Given the description of an element on the screen output the (x, y) to click on. 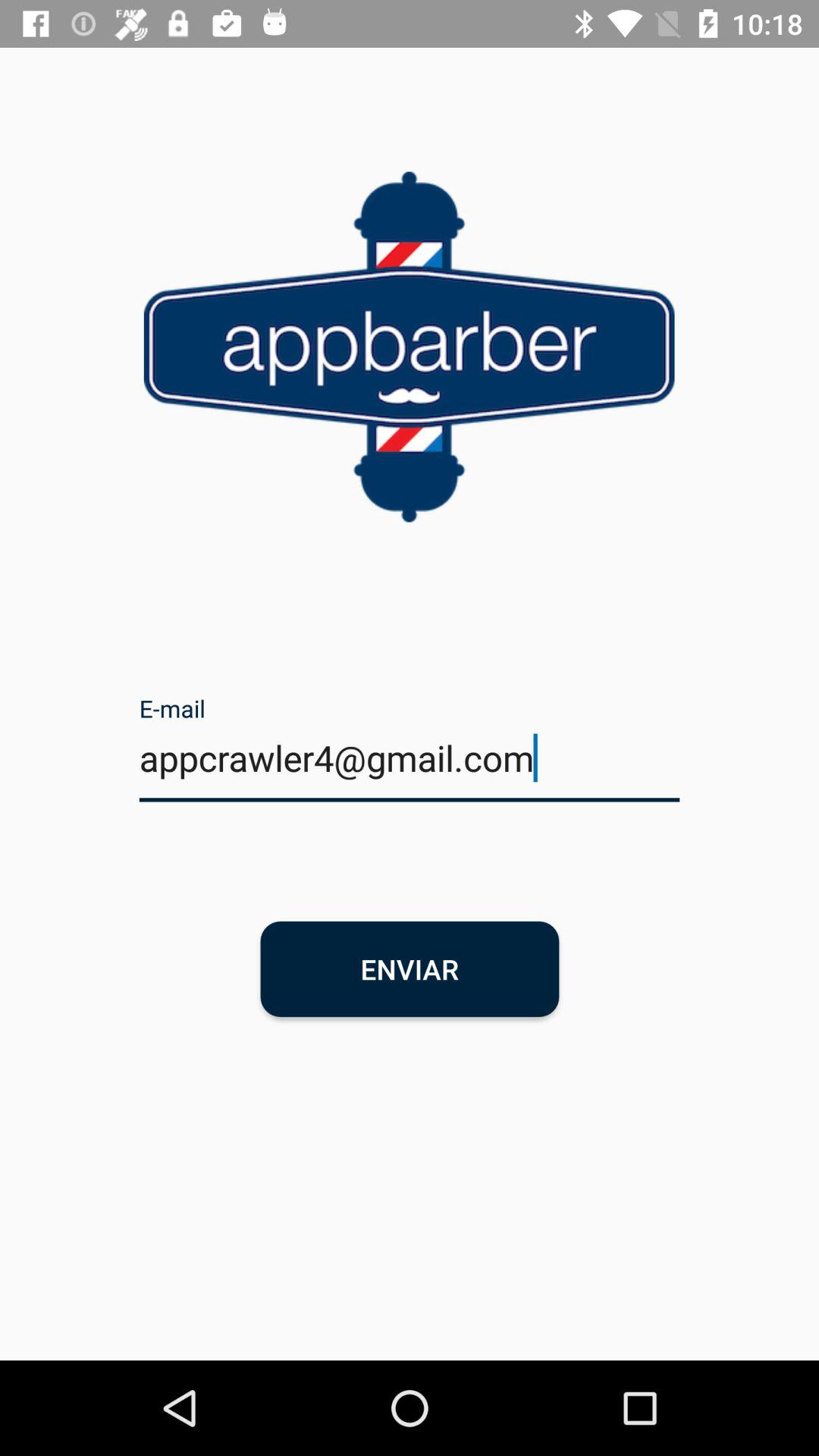
turn on the appcrawler4@gmail.com icon (409, 767)
